Given the description of an element on the screen output the (x, y) to click on. 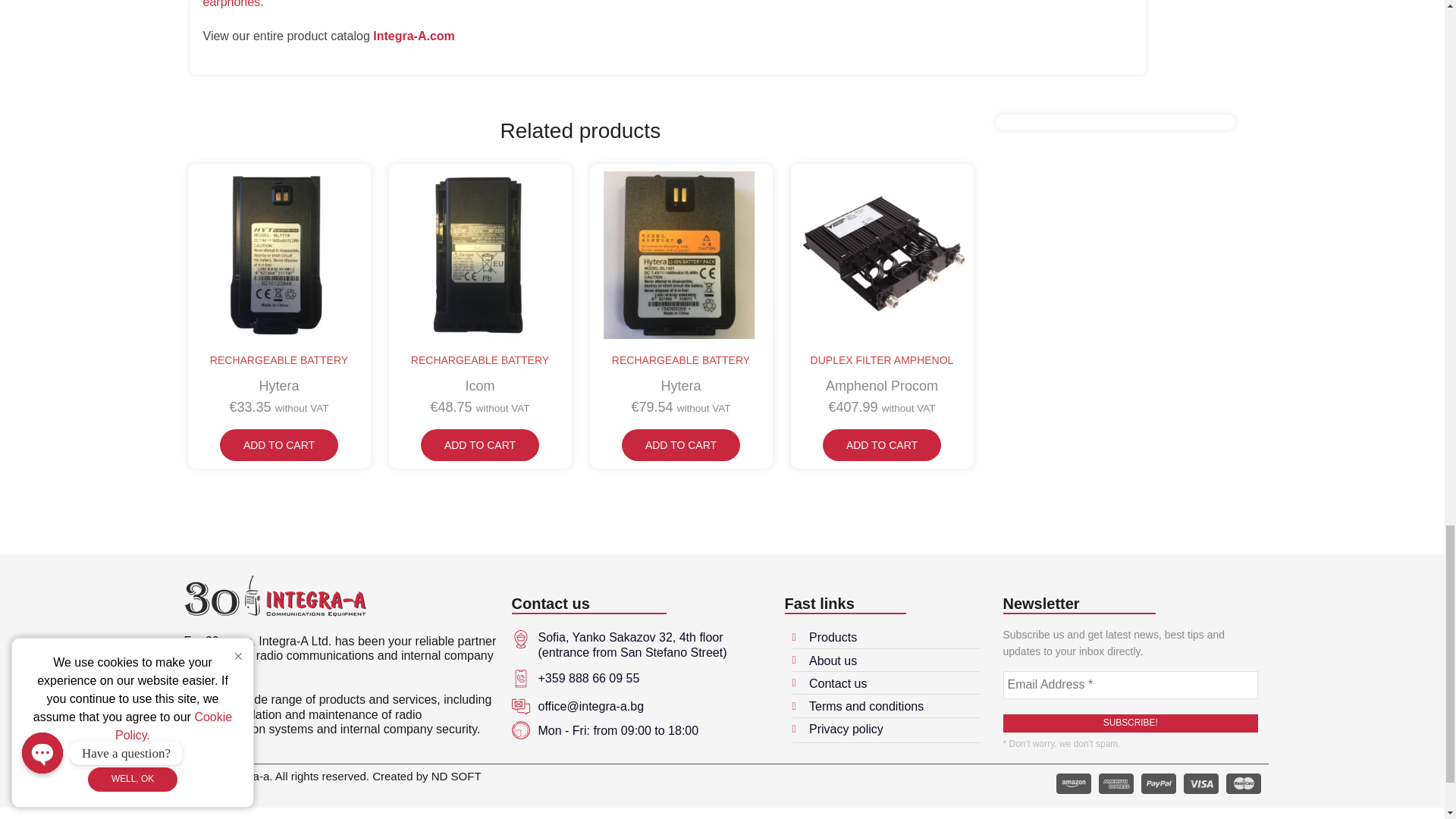
Subscribe! (1130, 723)
Email Address (1130, 684)
